Given the description of an element on the screen output the (x, y) to click on. 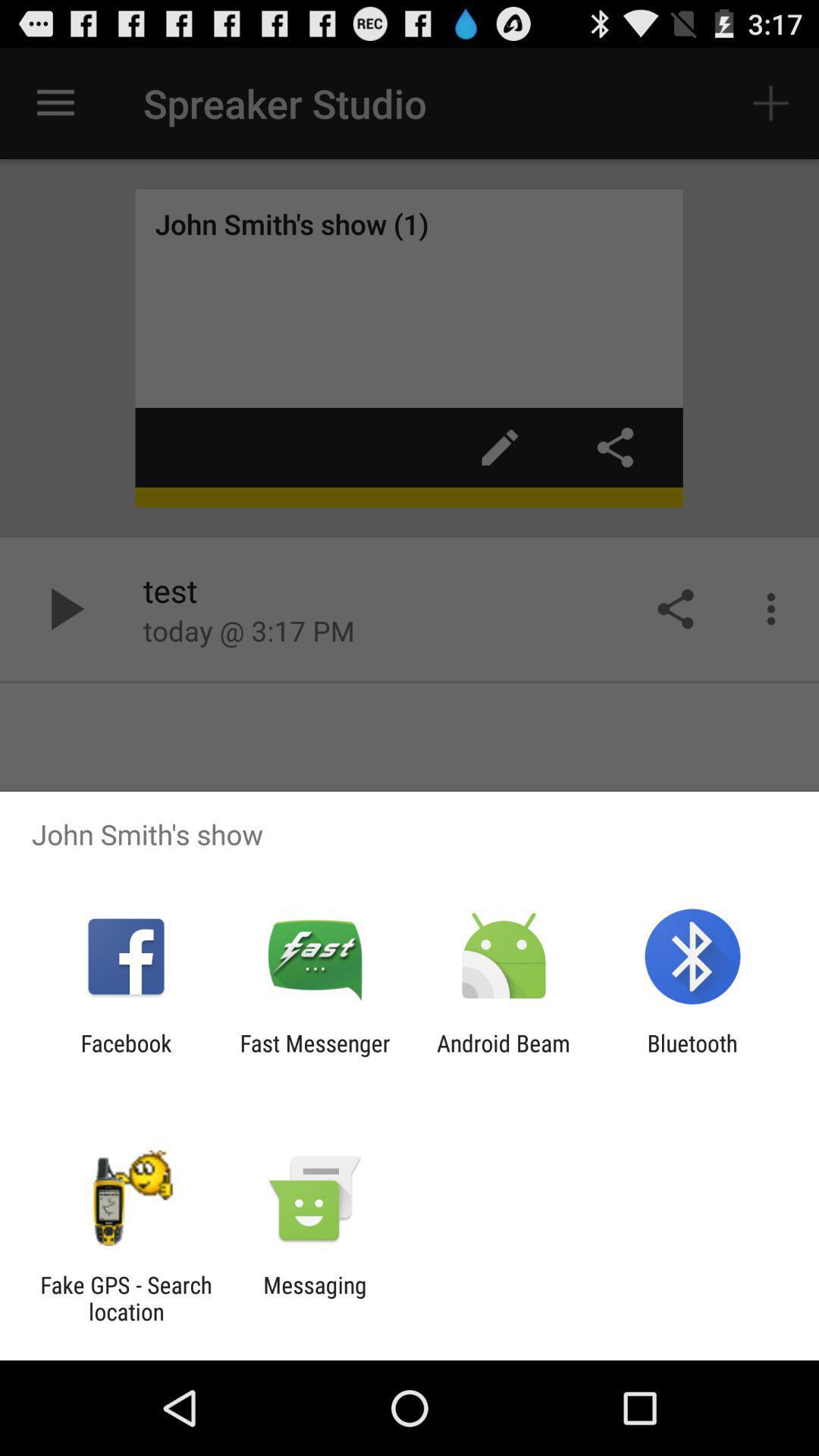
turn on item to the right of the android beam icon (692, 1056)
